Given the description of an element on the screen output the (x, y) to click on. 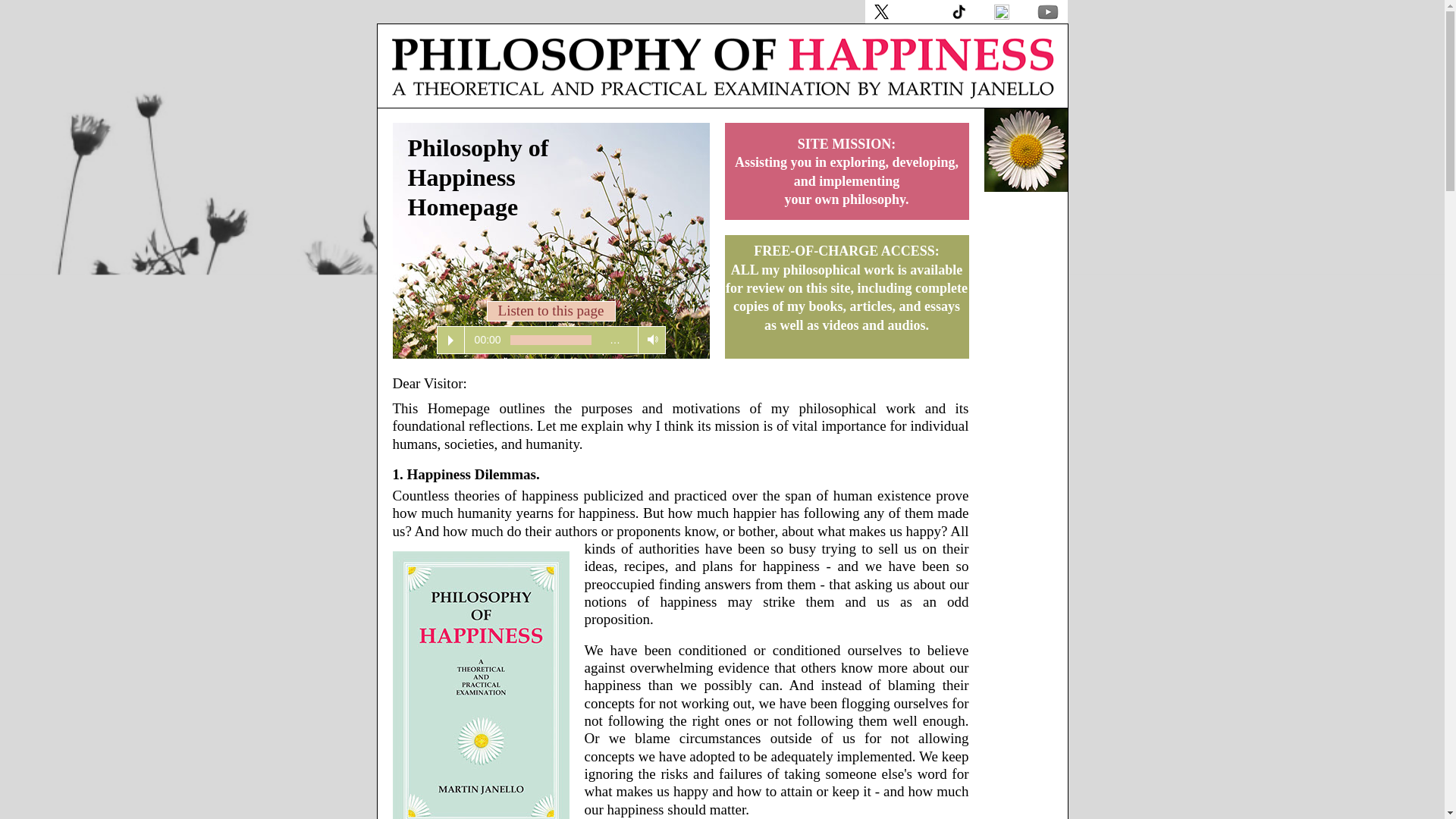
Philosophy of Happiness Website Banner (725, 66)
Philosophy of Happiness Daisy (1025, 149)
Philosophy of Happiness Daisy Meadow (551, 240)
"Philosophy of Happiness" E-Book Plate (481, 685)
Play (449, 339)
Volume (652, 339)
Play (449, 339)
